Given the description of an element on the screen output the (x, y) to click on. 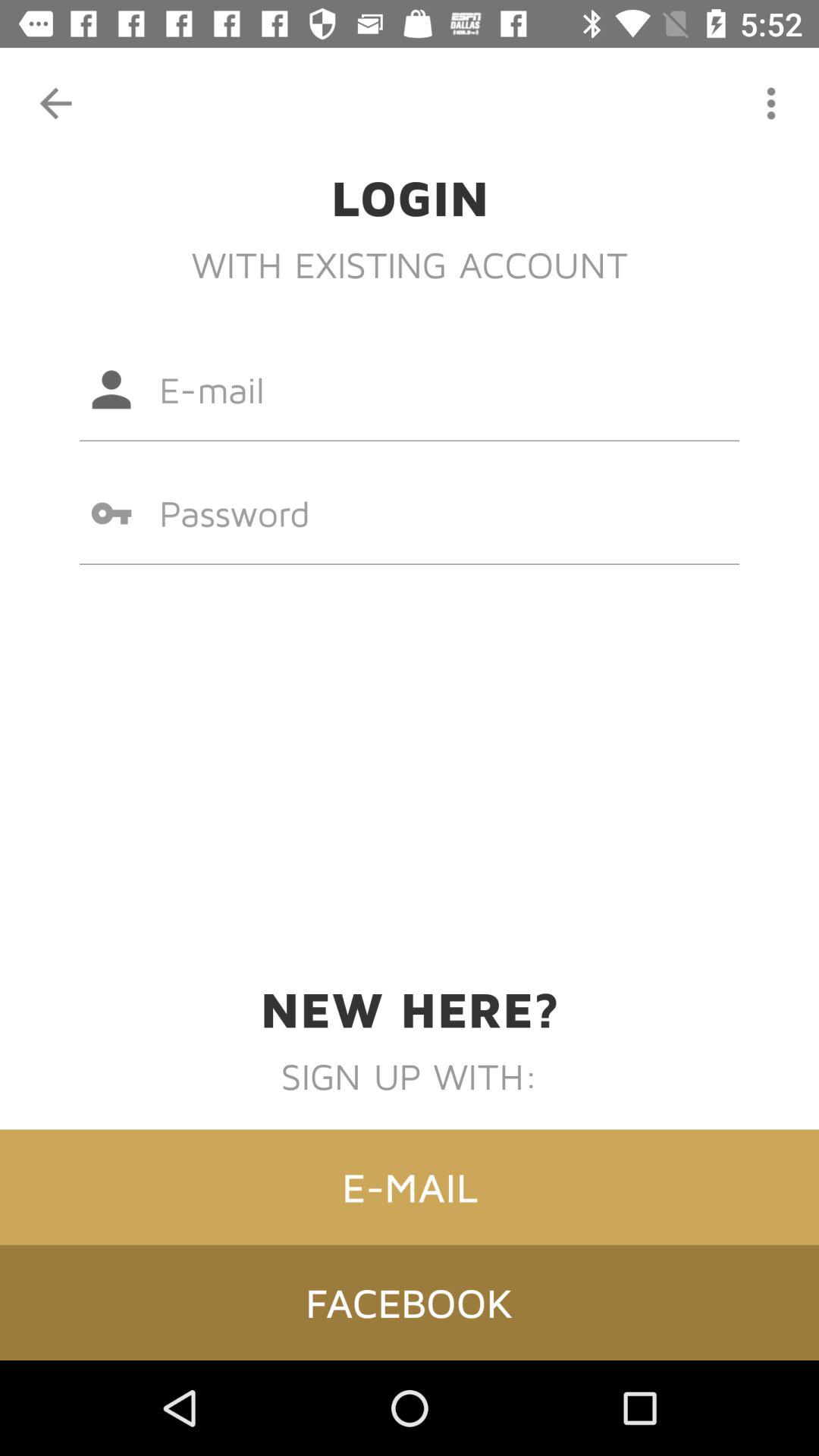
flip until the e-mail icon (409, 1186)
